Given the description of an element on the screen output the (x, y) to click on. 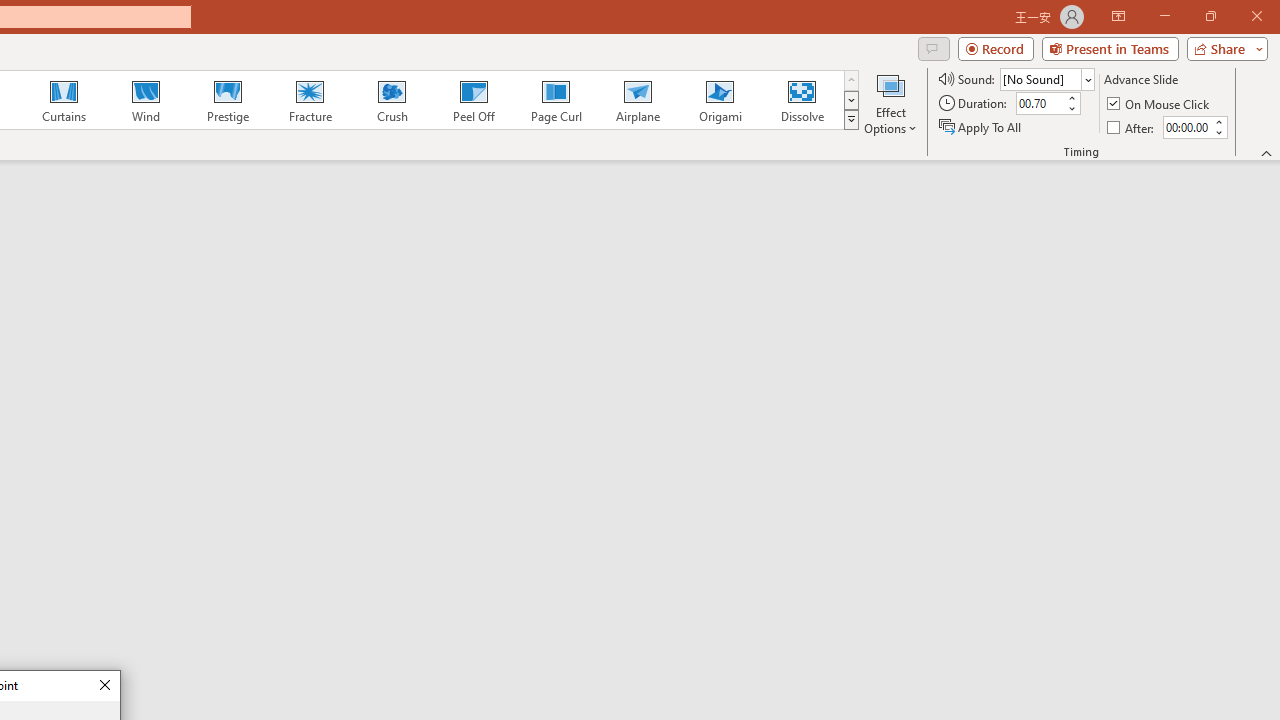
Apply To All (981, 126)
Fracture (309, 100)
Page Curl (555, 100)
Duration (1039, 103)
Curtains (63, 100)
Origami (719, 100)
